Given the description of an element on the screen output the (x, y) to click on. 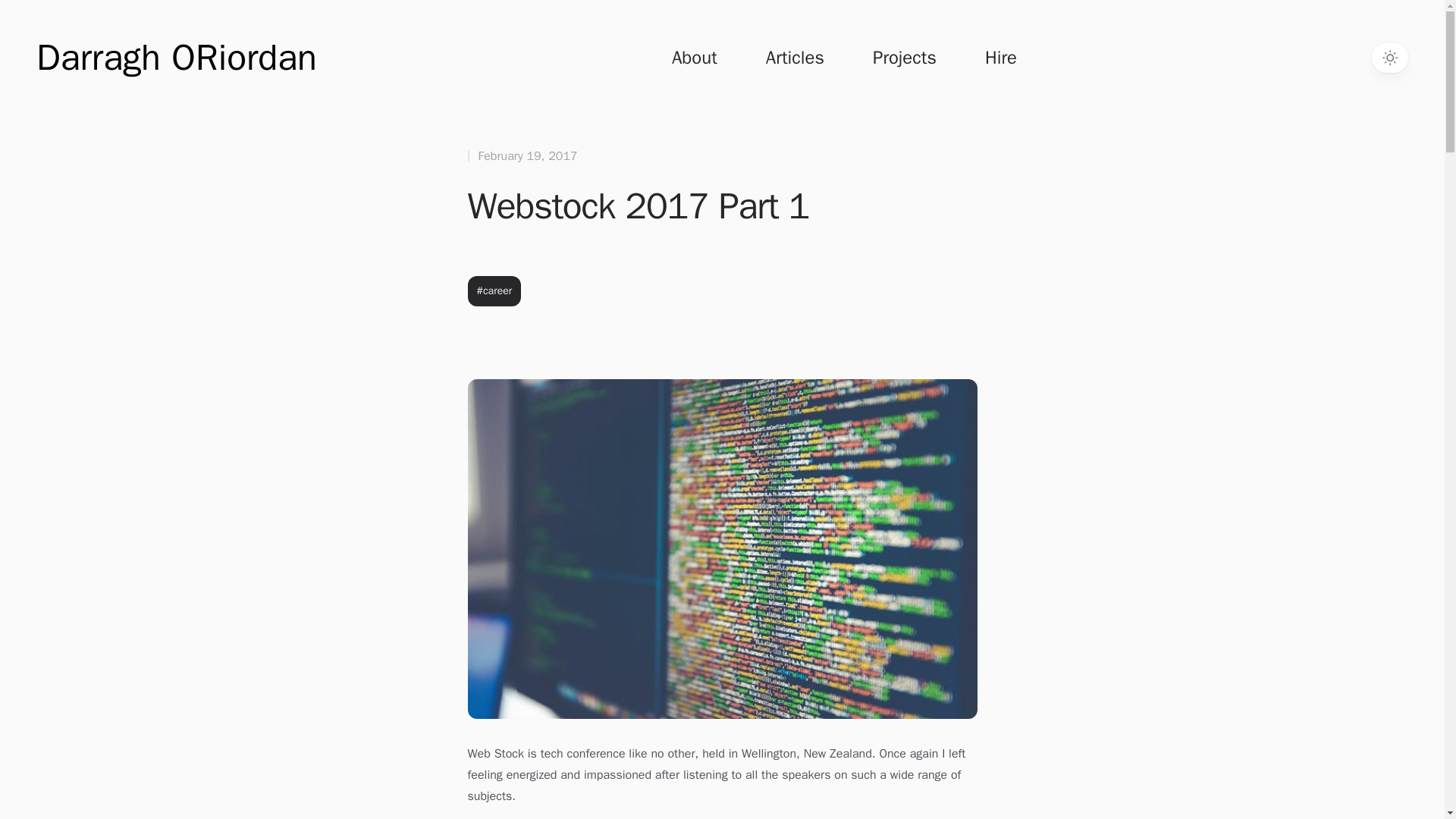
Articles (794, 57)
Hire (1000, 57)
About (694, 57)
Darragh ORiordan (176, 57)
Projects (904, 57)
